Given the description of an element on the screen output the (x, y) to click on. 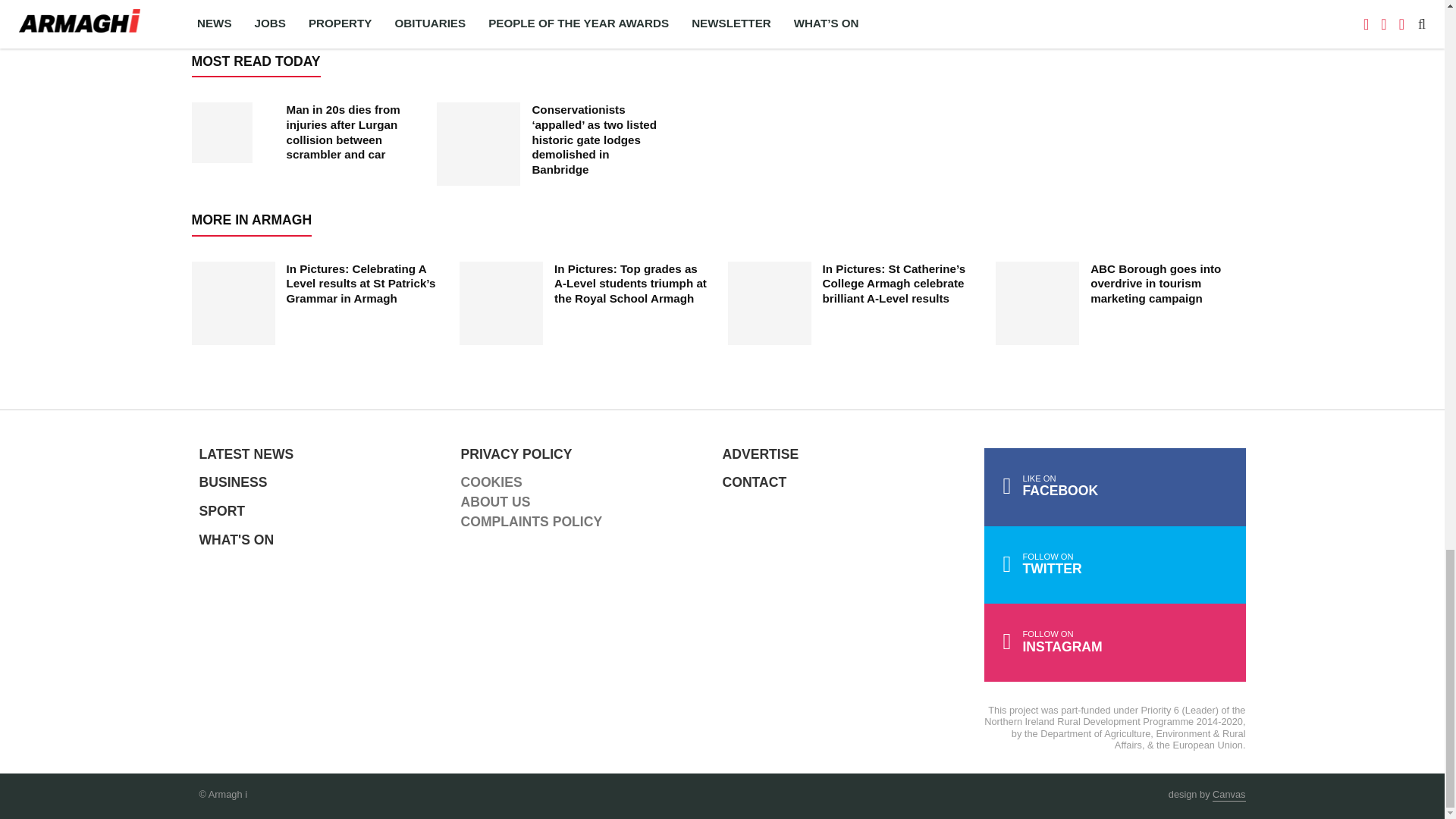
Twitter (1115, 565)
Instagram (1115, 642)
Facebook (1115, 486)
